Given the description of an element on the screen output the (x, y) to click on. 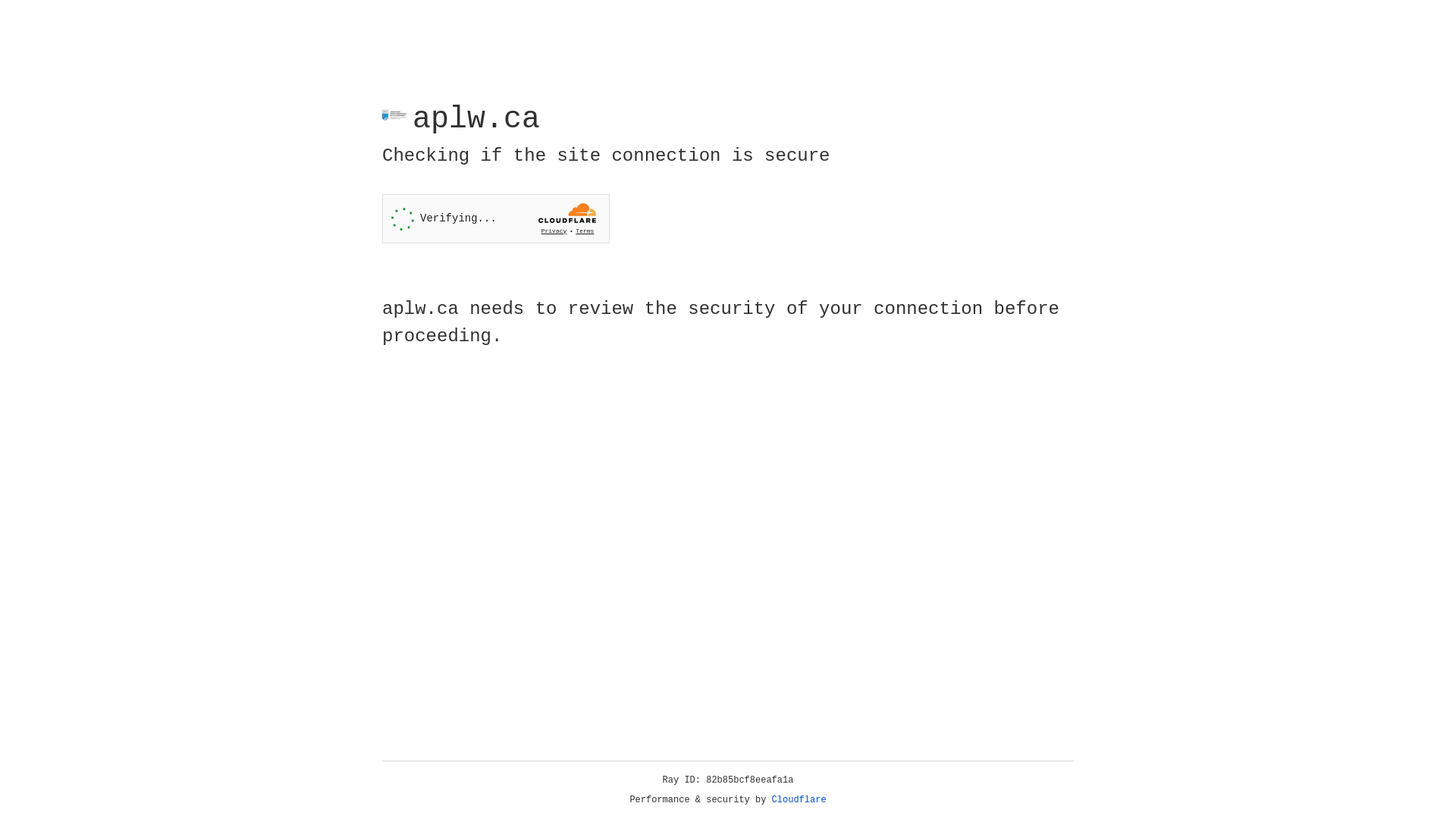
Widget containing a Cloudflare security challenge Element type: hover (495, 218)
Cloudflare Element type: text (798, 799)
